Given the description of an element on the screen output the (x, y) to click on. 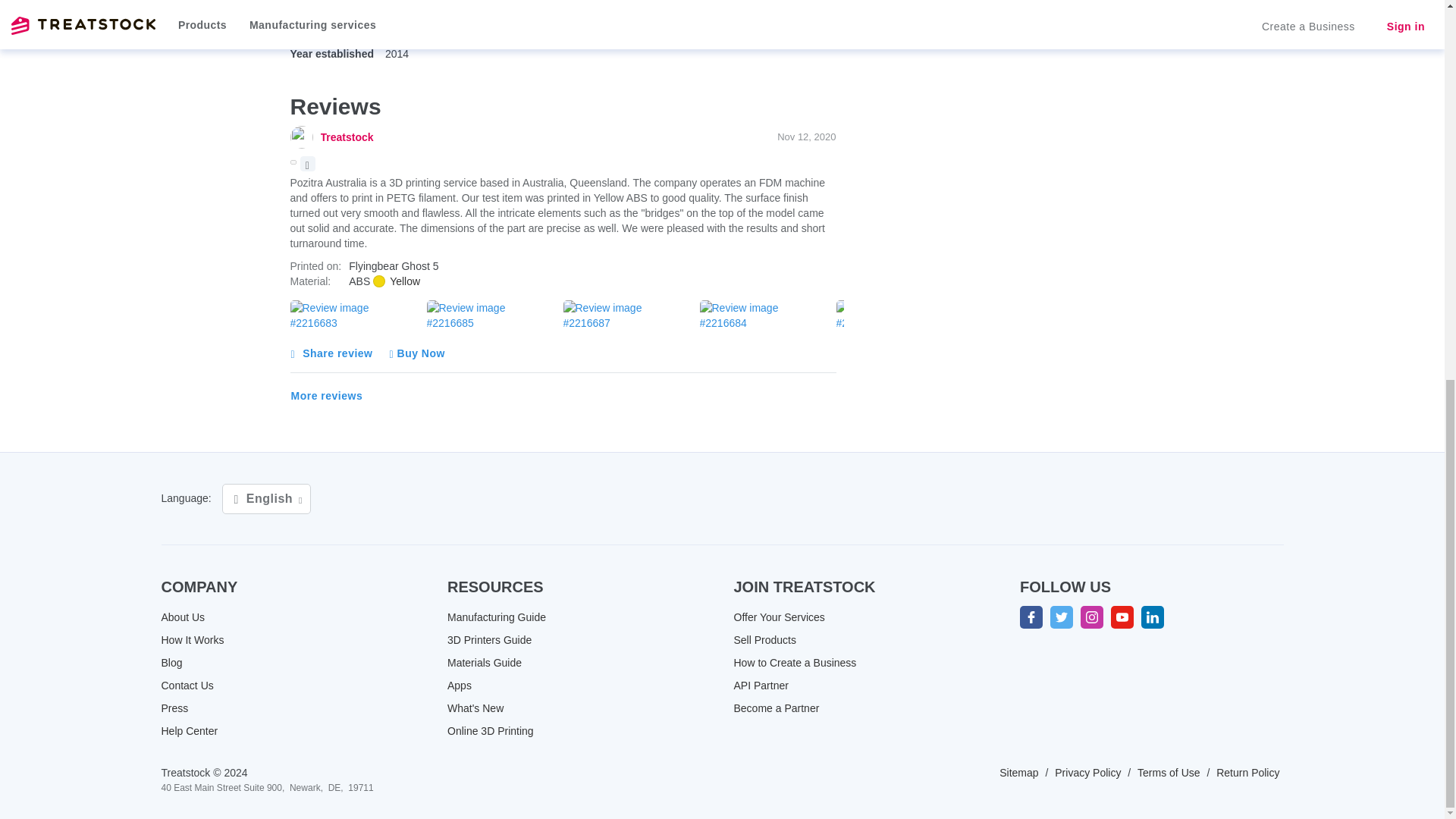
Twitter (1061, 617)
ABS (396, 281)
LinkedIn (1152, 617)
Facebook (1031, 617)
YouTube (1122, 617)
Instagram (1091, 617)
